Given the description of an element on the screen output the (x, y) to click on. 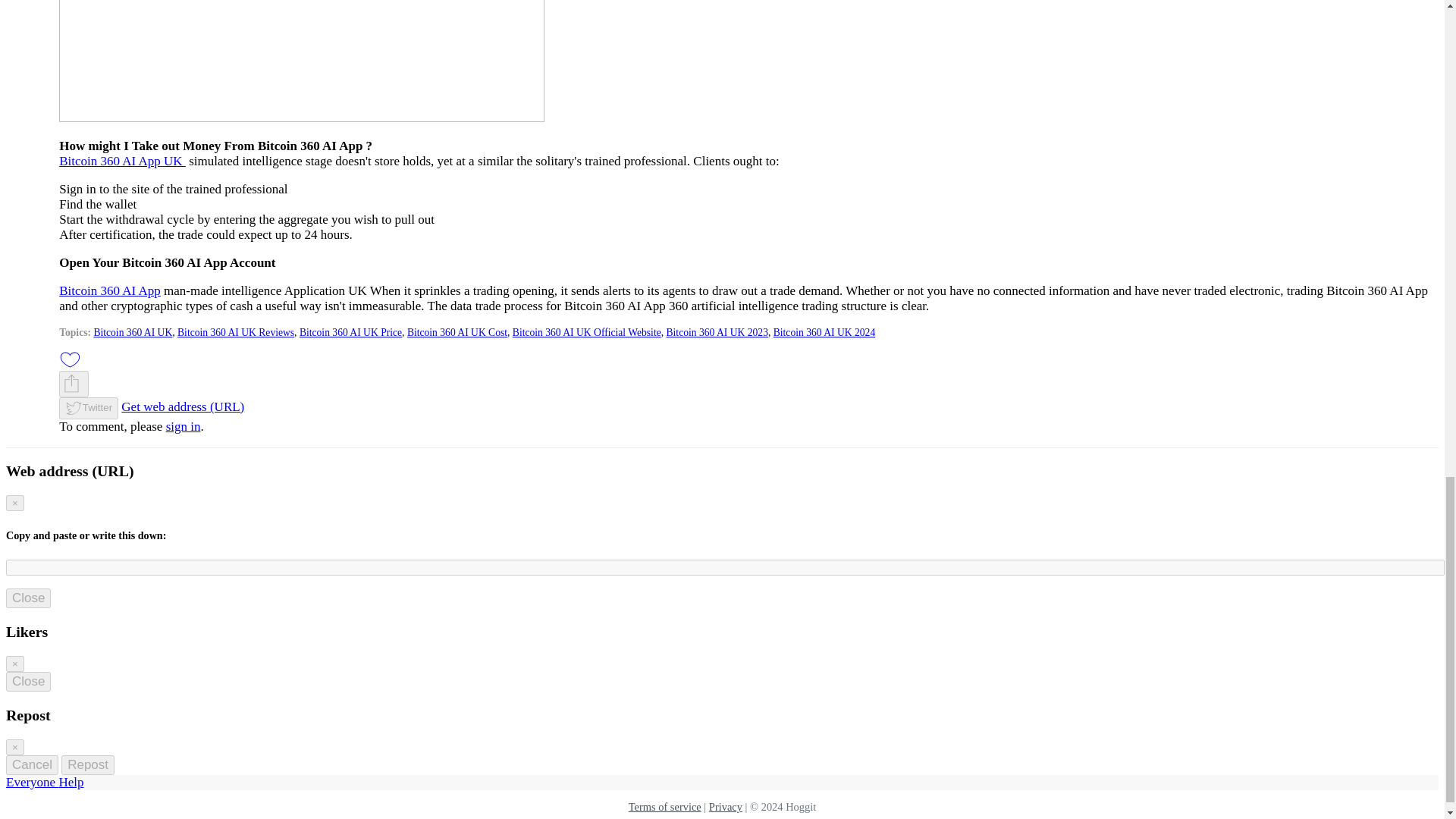
Bitcoin 360 AI UK 2023 (717, 331)
Twitter (88, 408)
Bitcoin 360 AI App (109, 290)
Share (73, 384)
Bitcoin 360 AI UK Official Website (586, 331)
sign in (182, 426)
Share (71, 383)
Bitcoin 360 AI UK Cost (456, 331)
Bitcoin 360 AI UK Reviews (235, 331)
Like (70, 358)
Bitcoin 360 AI UK (132, 331)
Like (70, 359)
Bitcoin 360 AI UK 2024 (824, 331)
Bitcoin 360 AI UK Price (350, 331)
Bitcoin 360 AI App UK  (122, 160)
